Given the description of an element on the screen output the (x, y) to click on. 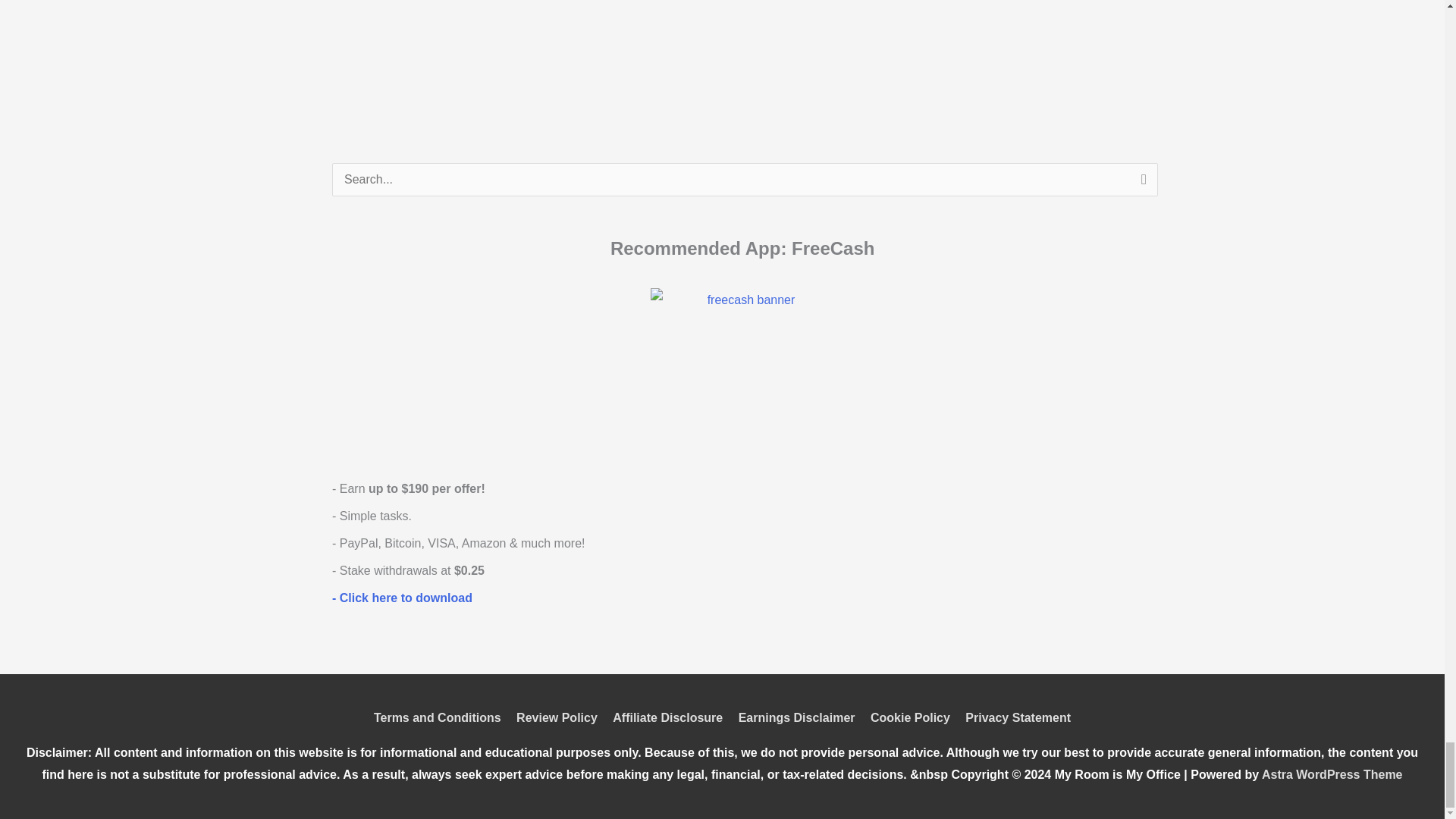
Terms and Conditions (440, 717)
Earnings Disclaimer (796, 717)
Cookie Policy (910, 717)
Affiliate Disclosure (668, 717)
Review Policy (557, 717)
- Click here to download (401, 597)
